Given the description of an element on the screen output the (x, y) to click on. 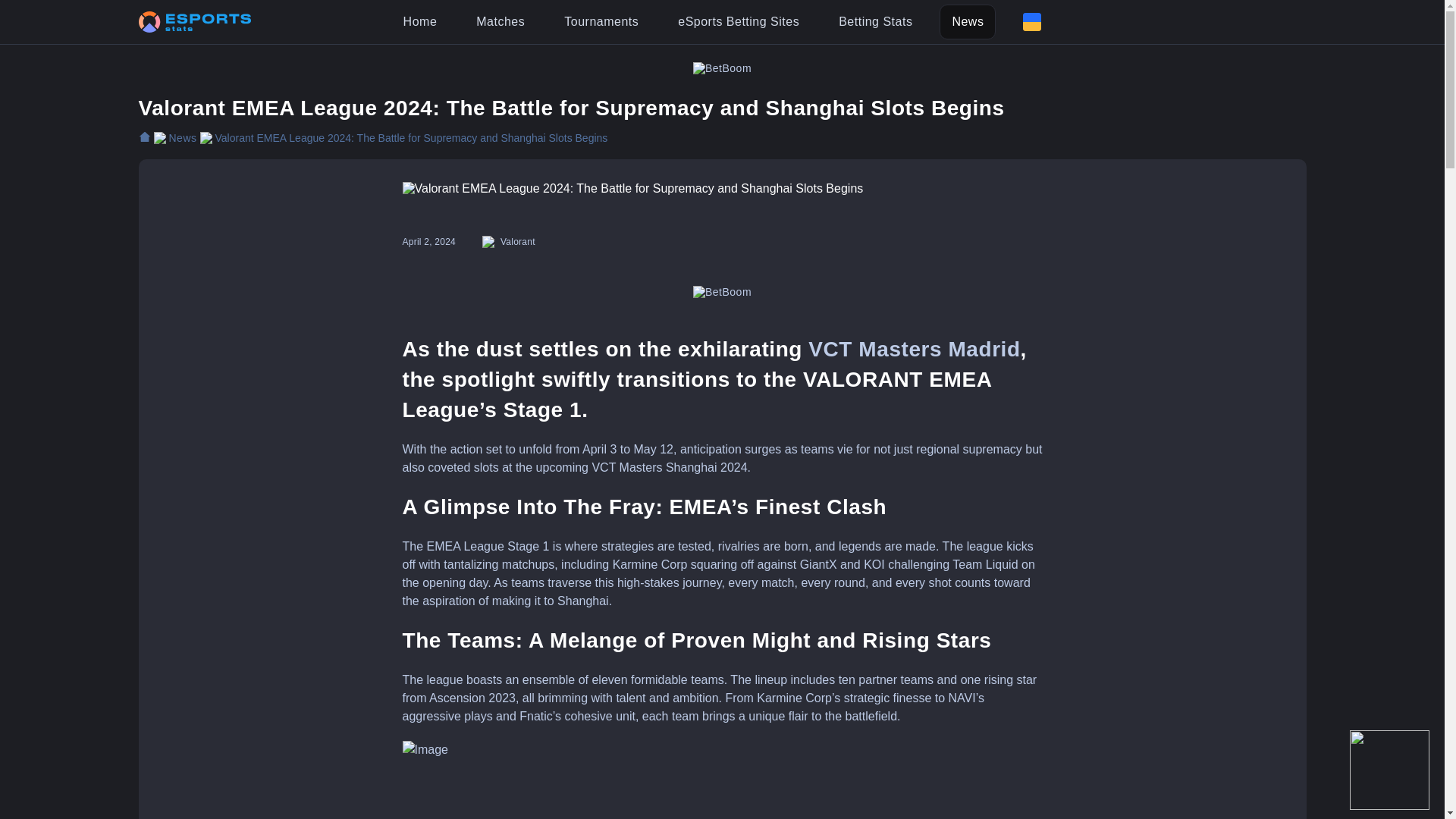
News (967, 21)
BetBoom (722, 68)
e-sportstats.com (158, 137)
VCT Masters Madrid (914, 349)
BetBoom (722, 291)
Betting Stats (875, 21)
News (174, 137)
Matches (500, 21)
Home (420, 21)
